Given the description of an element on the screen output the (x, y) to click on. 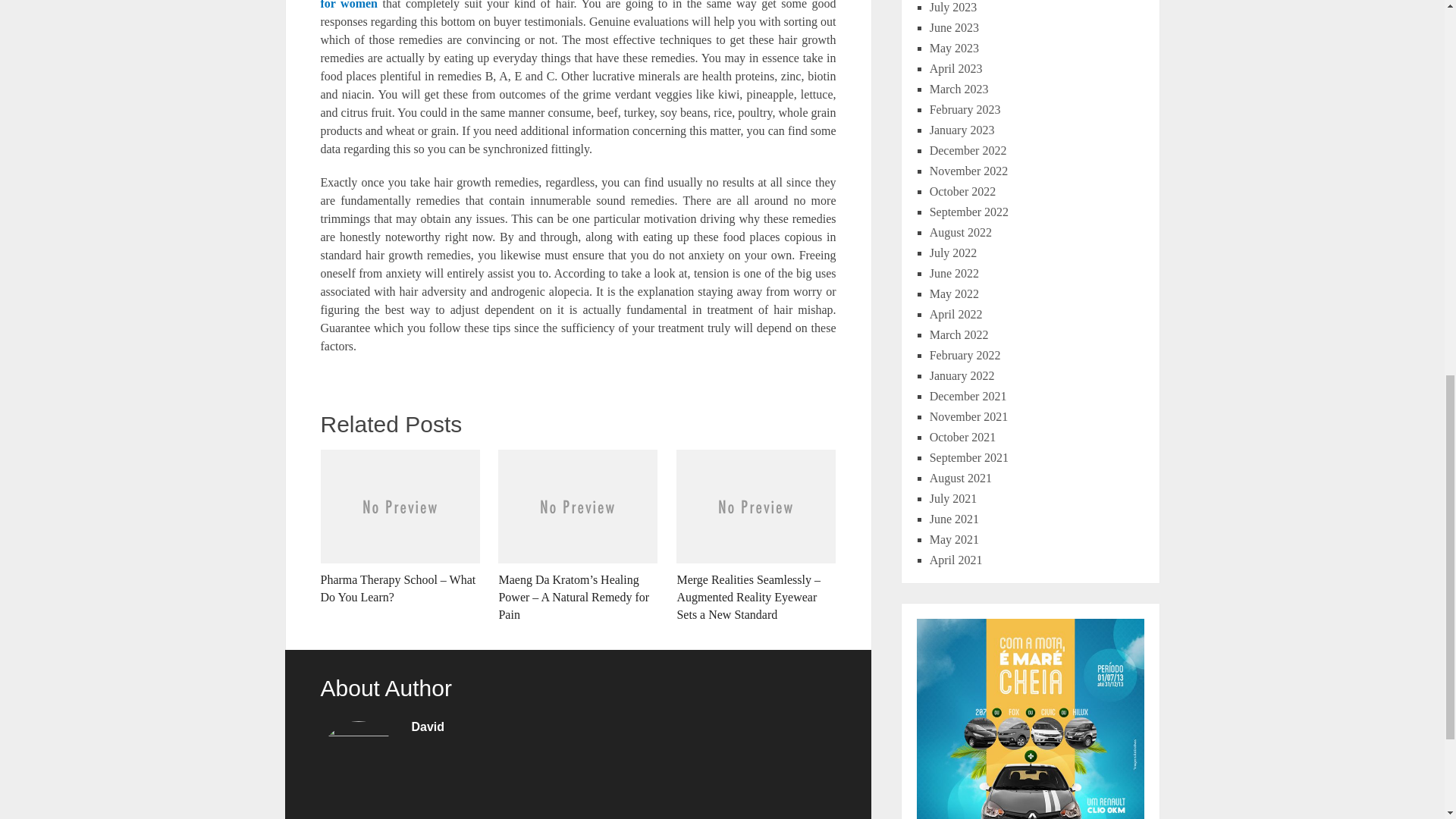
June 2023 (954, 27)
May 2023 (954, 47)
April 2023 (956, 68)
minoxidil for women (577, 4)
July 2023 (953, 6)
